Given the description of an element on the screen output the (x, y) to click on. 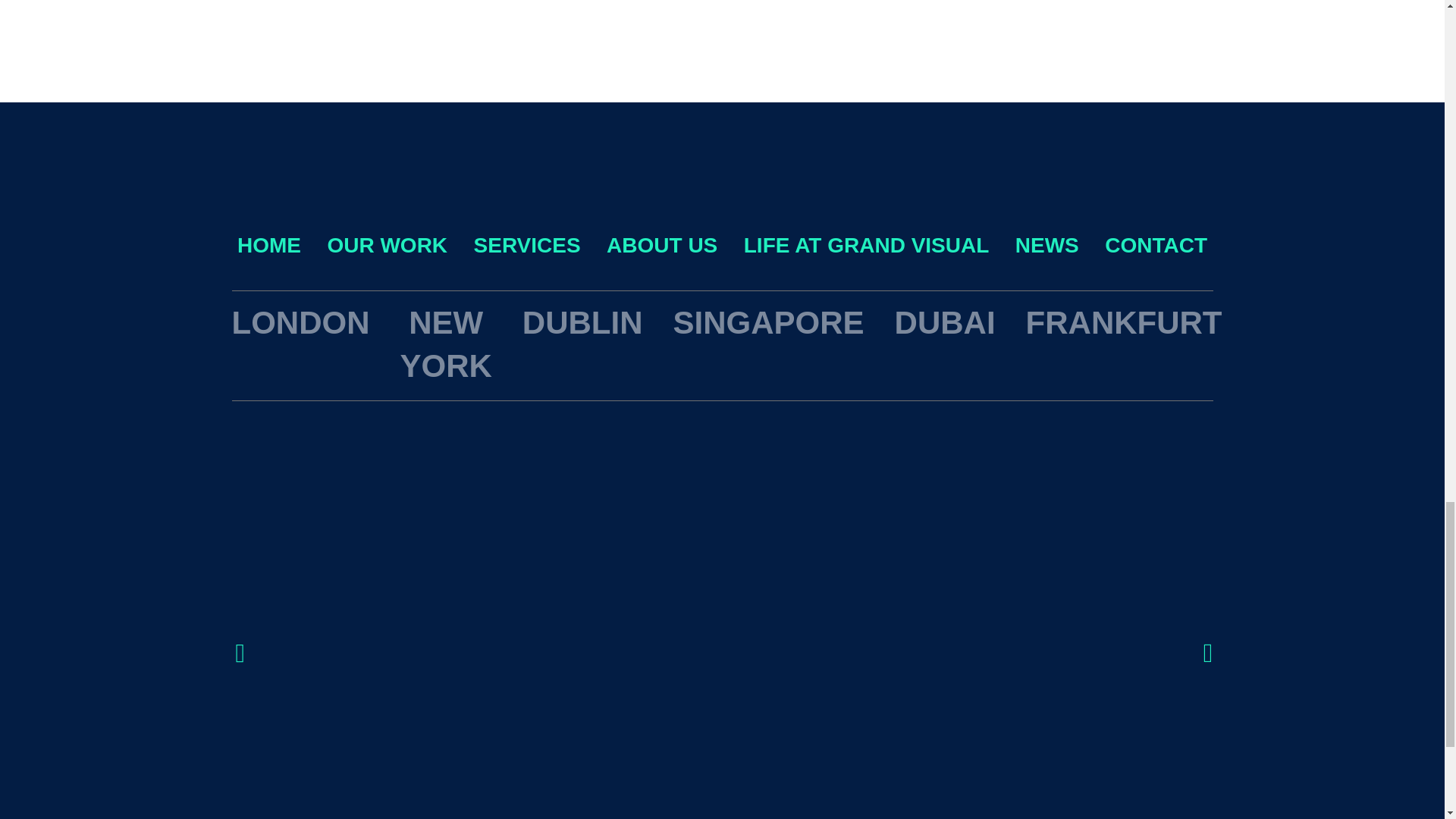
ABOUT US (662, 245)
SINGAPORE (768, 322)
CONTACT (1156, 245)
OUR WORK (386, 245)
LIFE AT GRAND VISUAL (867, 245)
DUBLIN (582, 322)
DUBAI (945, 322)
SERVICES (527, 245)
HOME (269, 245)
LONDON (300, 322)
